Given the description of an element on the screen output the (x, y) to click on. 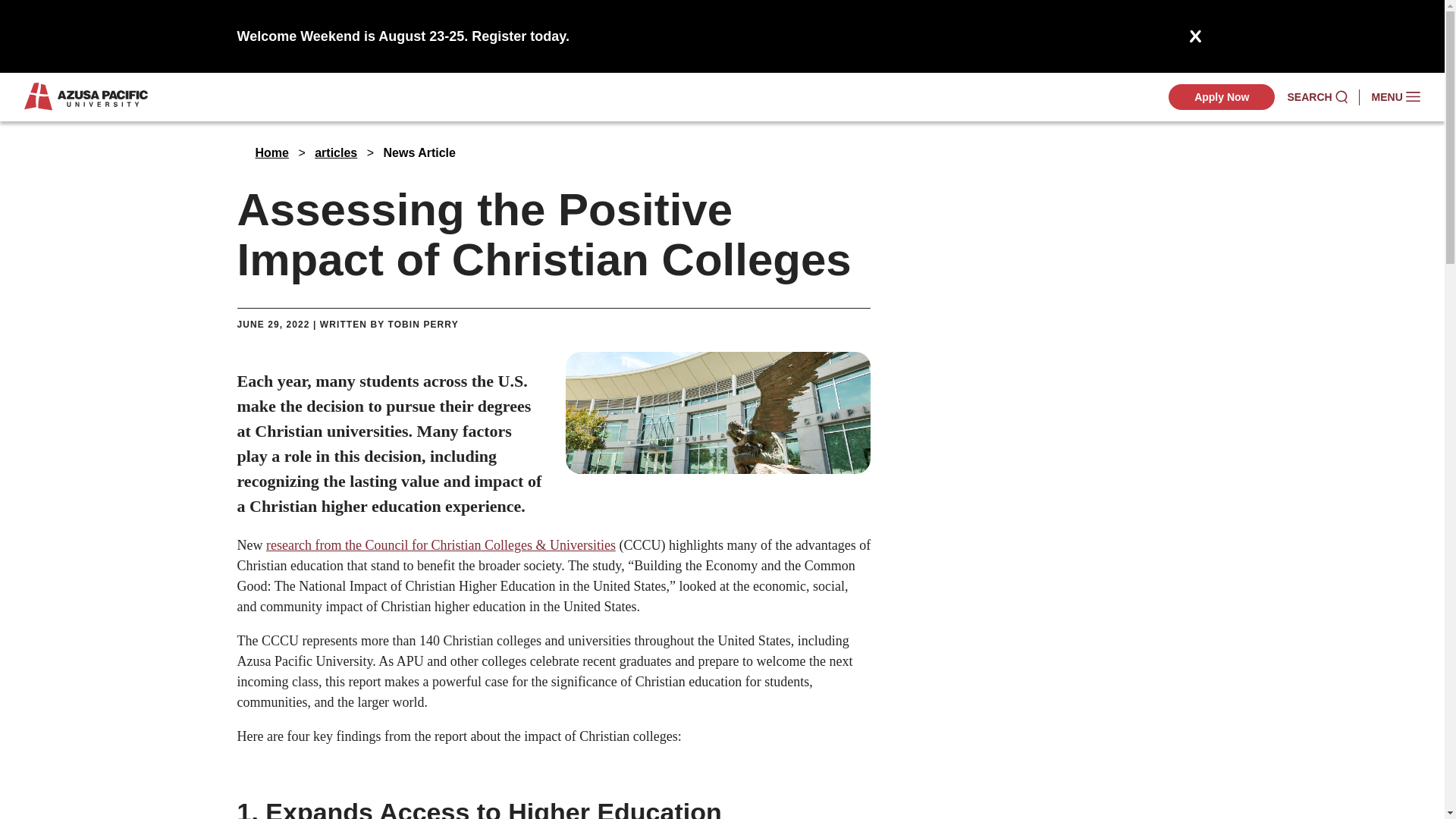
Skip to main content (722, 22)
Apply Now (1222, 96)
SEARCH (1316, 97)
Welcome Weekend is August 23-25. Register today. (402, 36)
MENU (1396, 97)
